Given the description of an element on the screen output the (x, y) to click on. 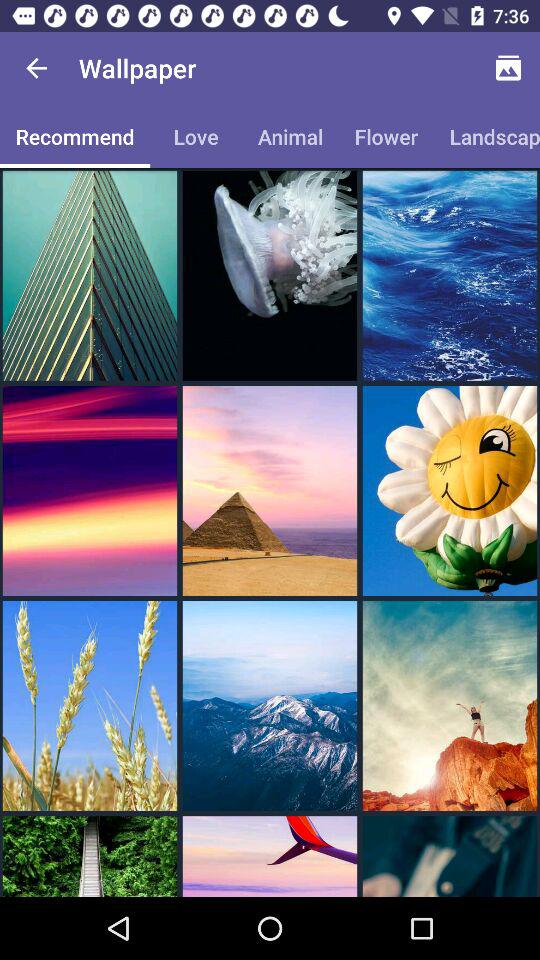
tap item next to wallpaper (508, 67)
